Given the description of an element on the screen output the (x, y) to click on. 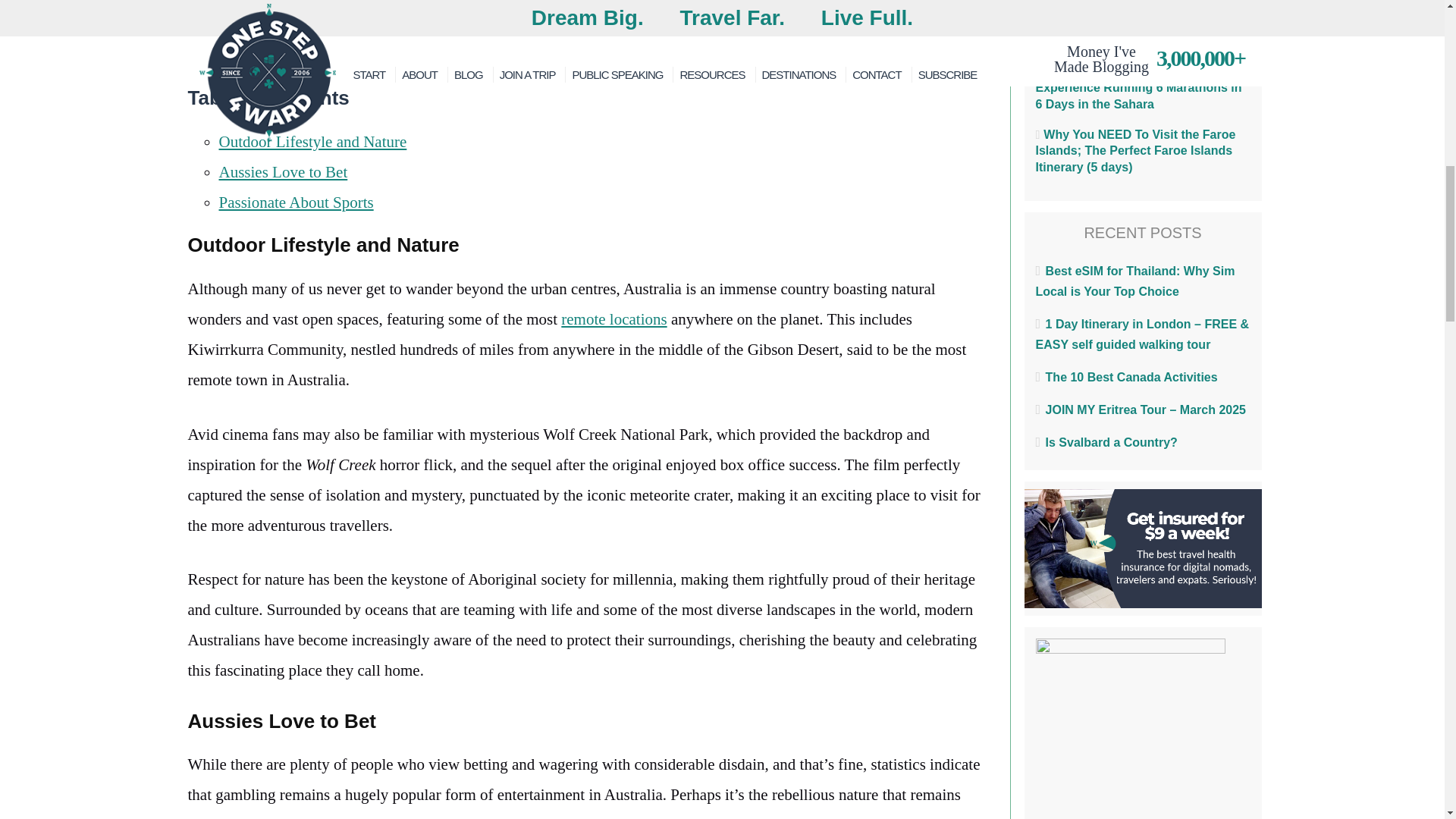
Passionate About Sports (295, 202)
remote locations (613, 319)
Outdoor Lifestyle and Nature (312, 141)
Aussies Love to Bet (282, 171)
